Given the description of an element on the screen output the (x, y) to click on. 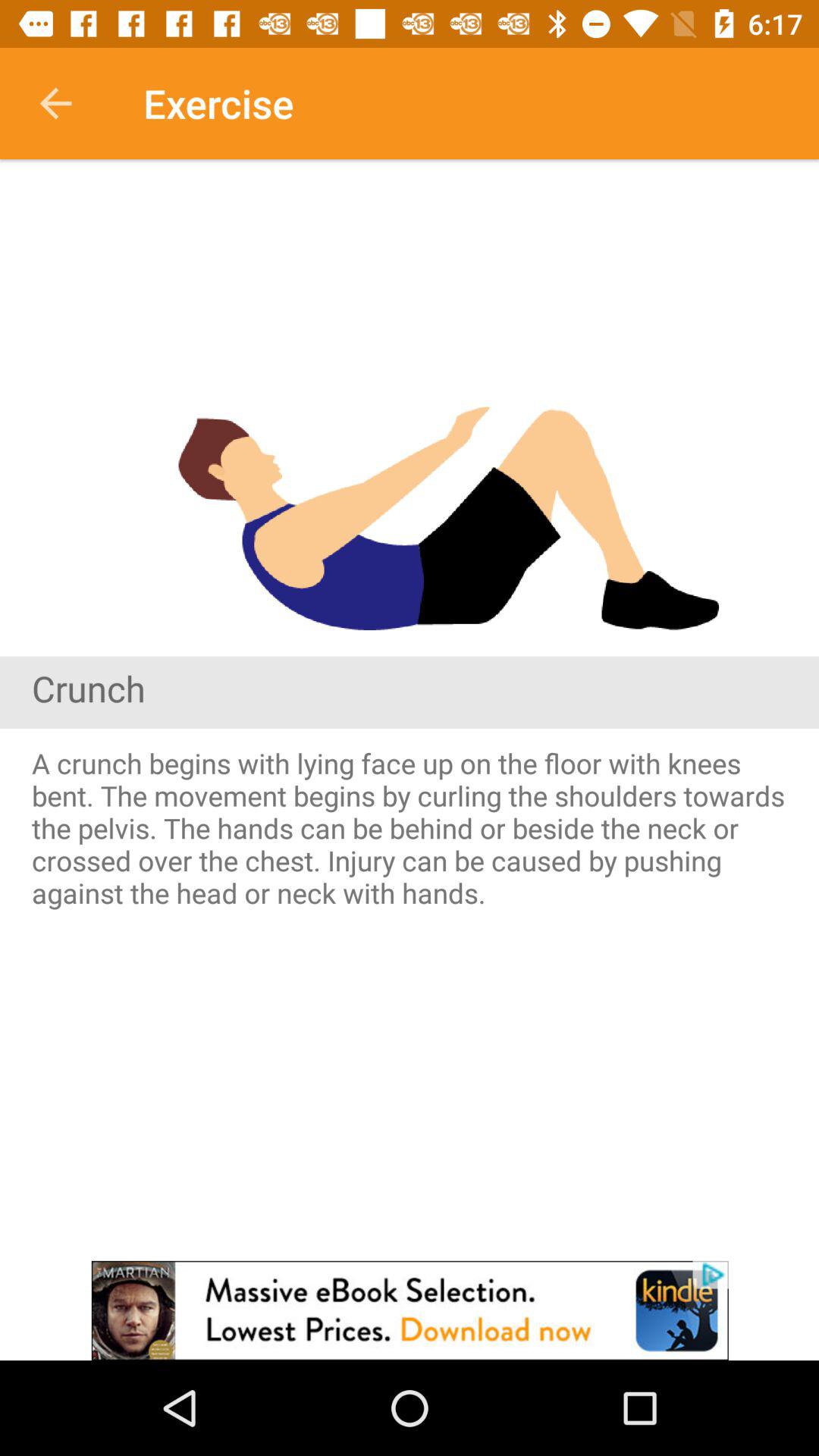
select advertisement (409, 1310)
